Given the description of an element on the screen output the (x, y) to click on. 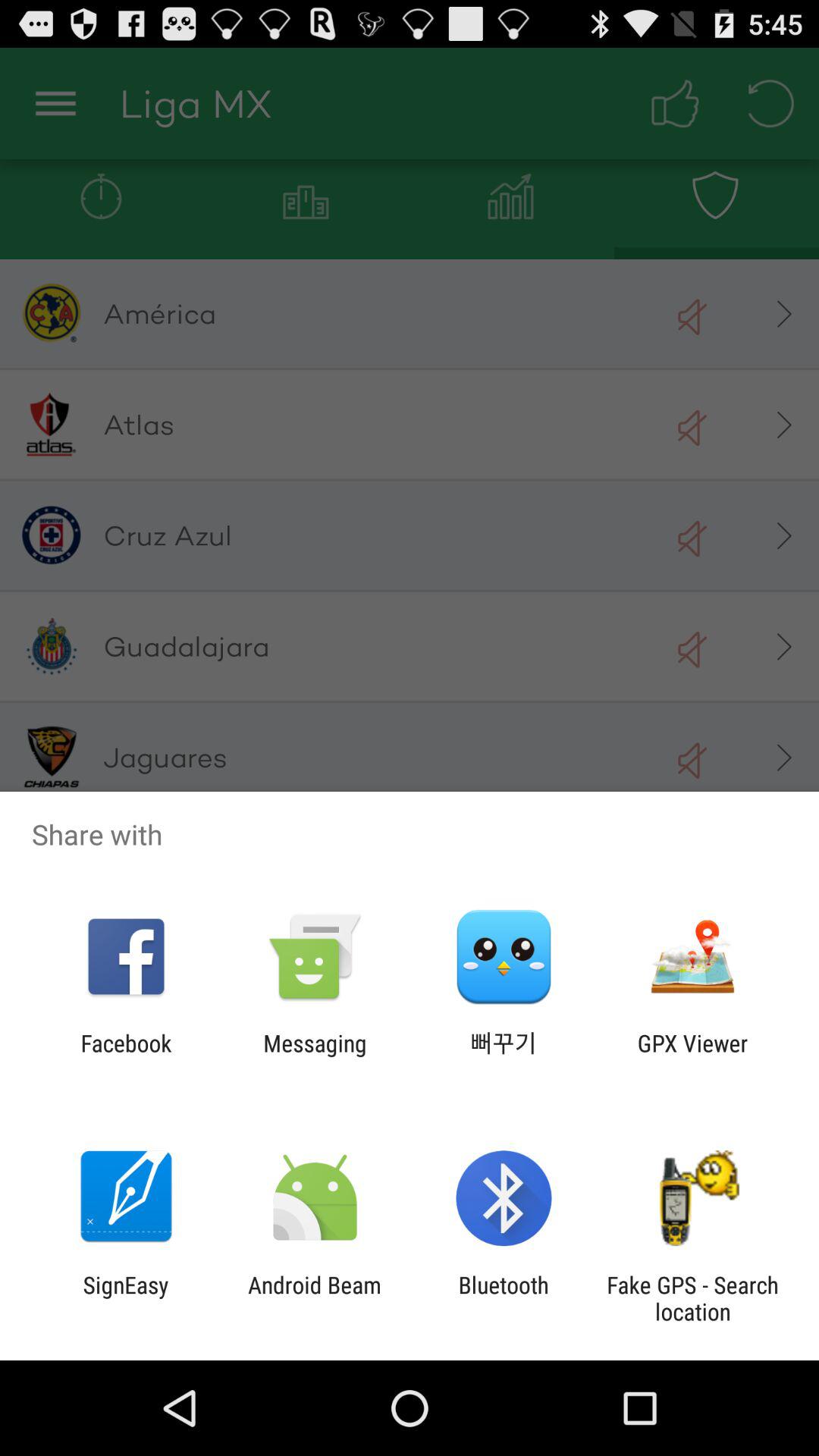
click the app next to bluetooth app (314, 1298)
